Given the description of an element on the screen output the (x, y) to click on. 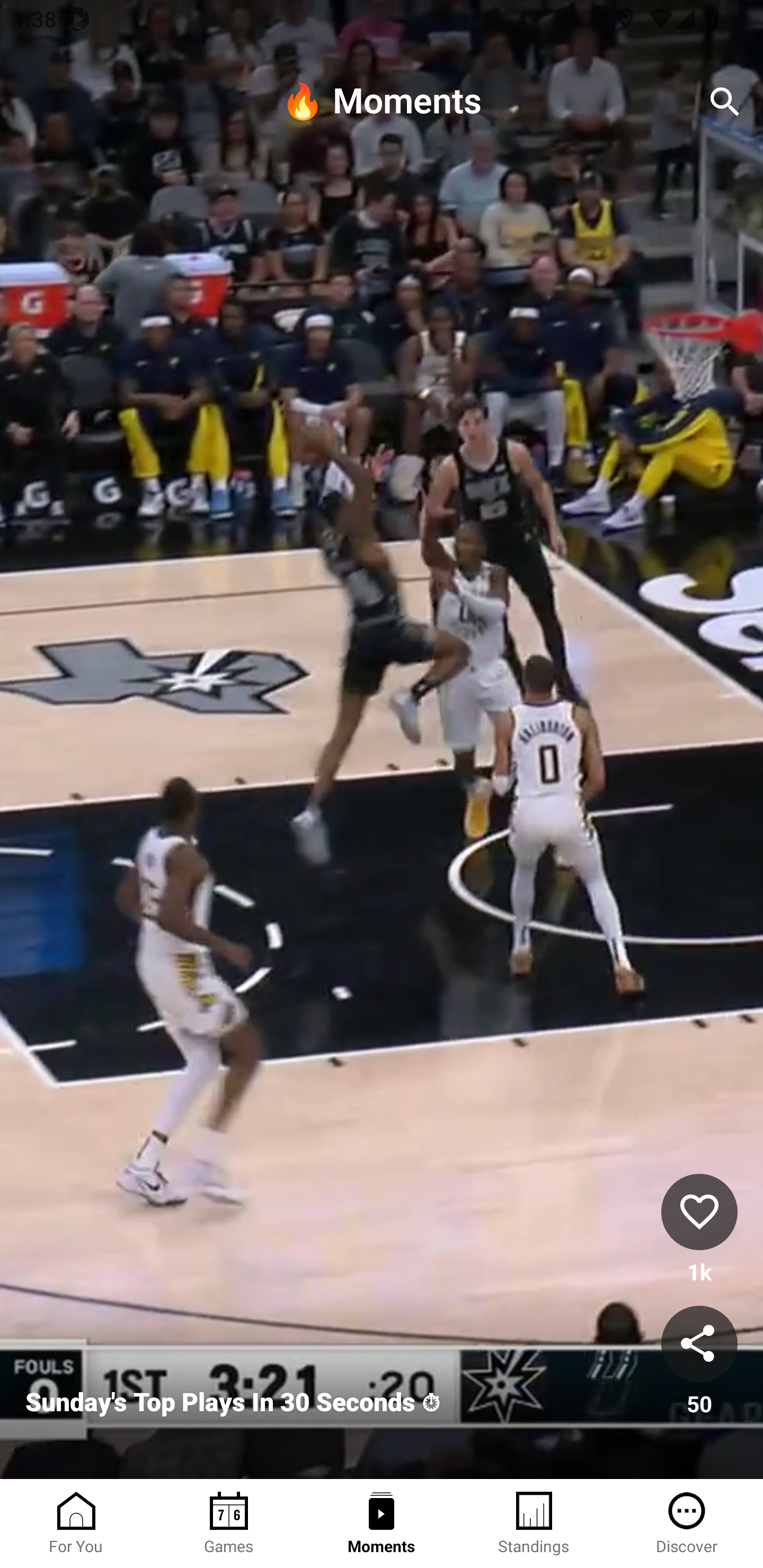
search (724, 101)
like 1k 1015 Likes (699, 1230)
share 50 50 Shares (699, 1362)
For You (76, 1523)
Games (228, 1523)
Standings (533, 1523)
Discover (686, 1523)
